Given the description of an element on the screen output the (x, y) to click on. 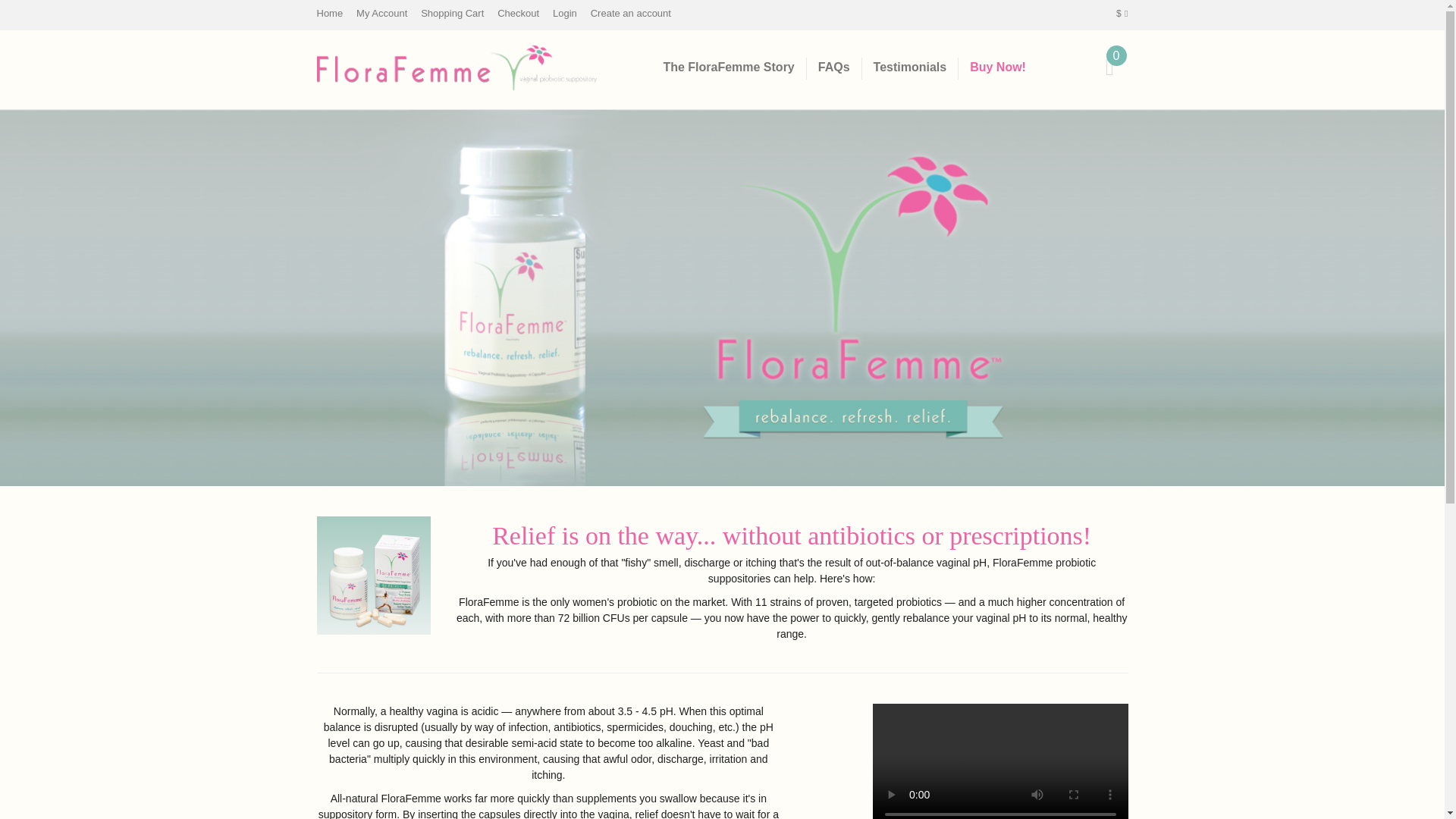
Home (330, 12)
My Account (381, 12)
Checkout (517, 12)
Shopping Cart (451, 12)
Checkout (517, 12)
The FloraFemme Story (728, 68)
FloraFemme (456, 67)
Shopping Cart (451, 12)
